Given the description of an element on the screen output the (x, y) to click on. 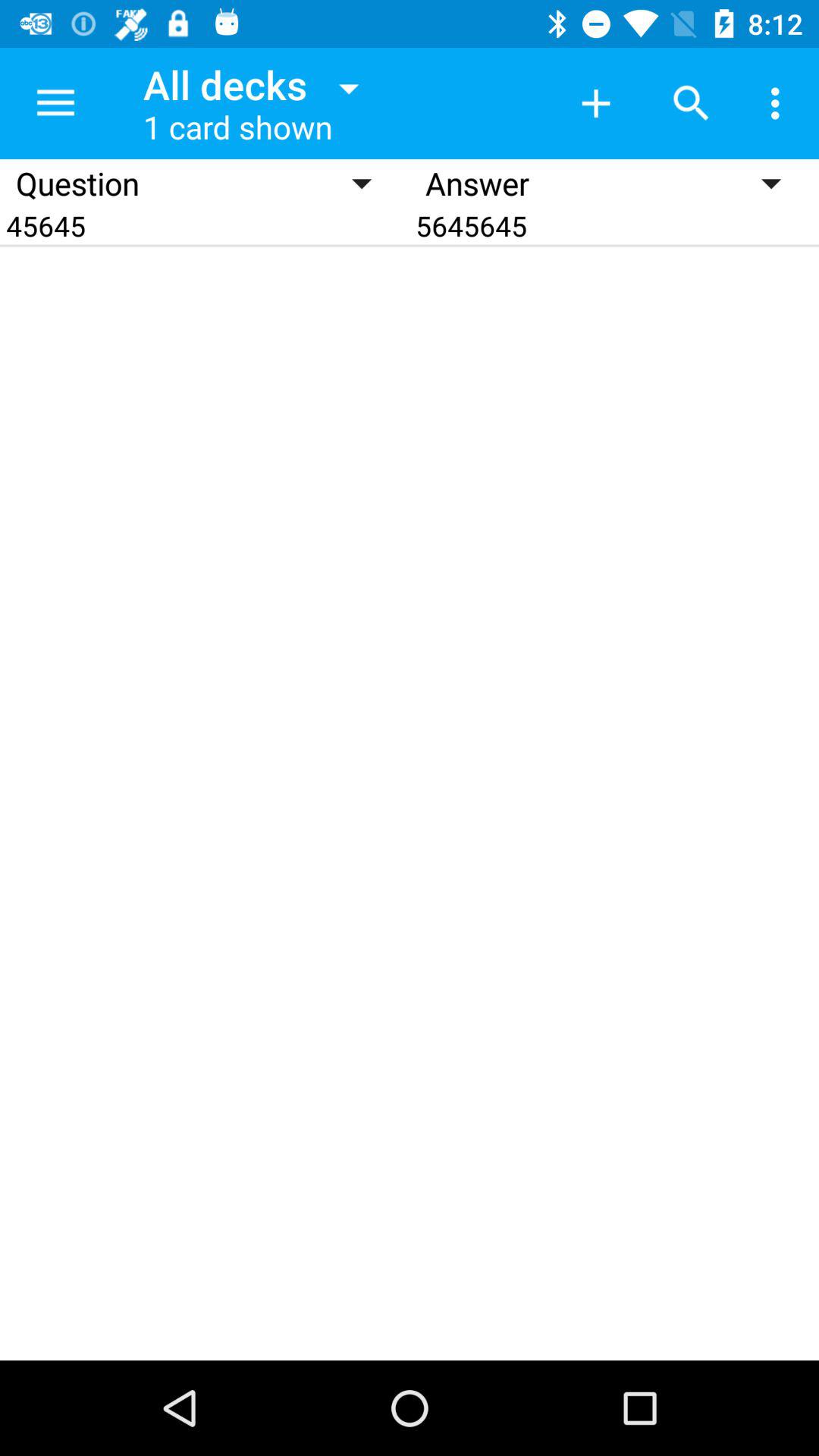
launch item below question item (204, 225)
